Given the description of an element on the screen output the (x, y) to click on. 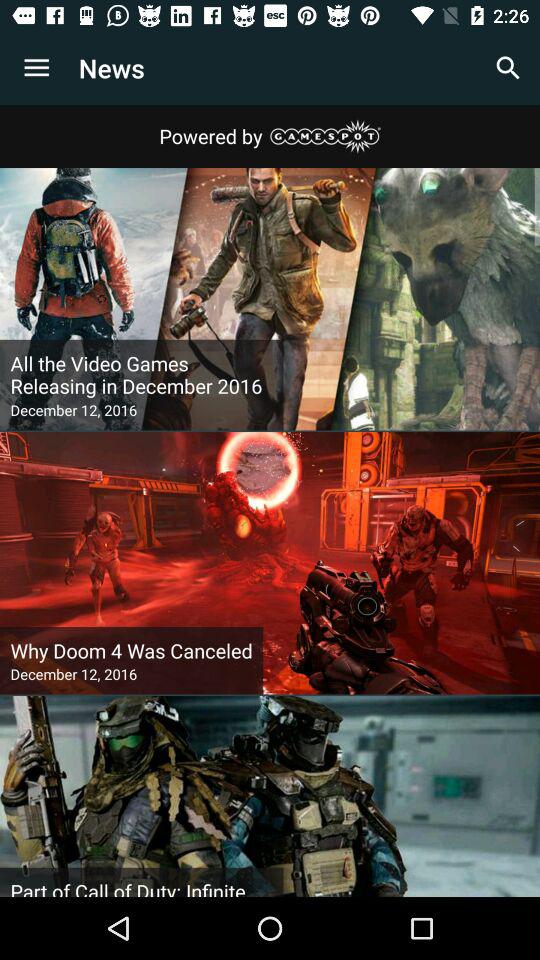
scroll to the part of call item (141, 887)
